Given the description of an element on the screen output the (x, y) to click on. 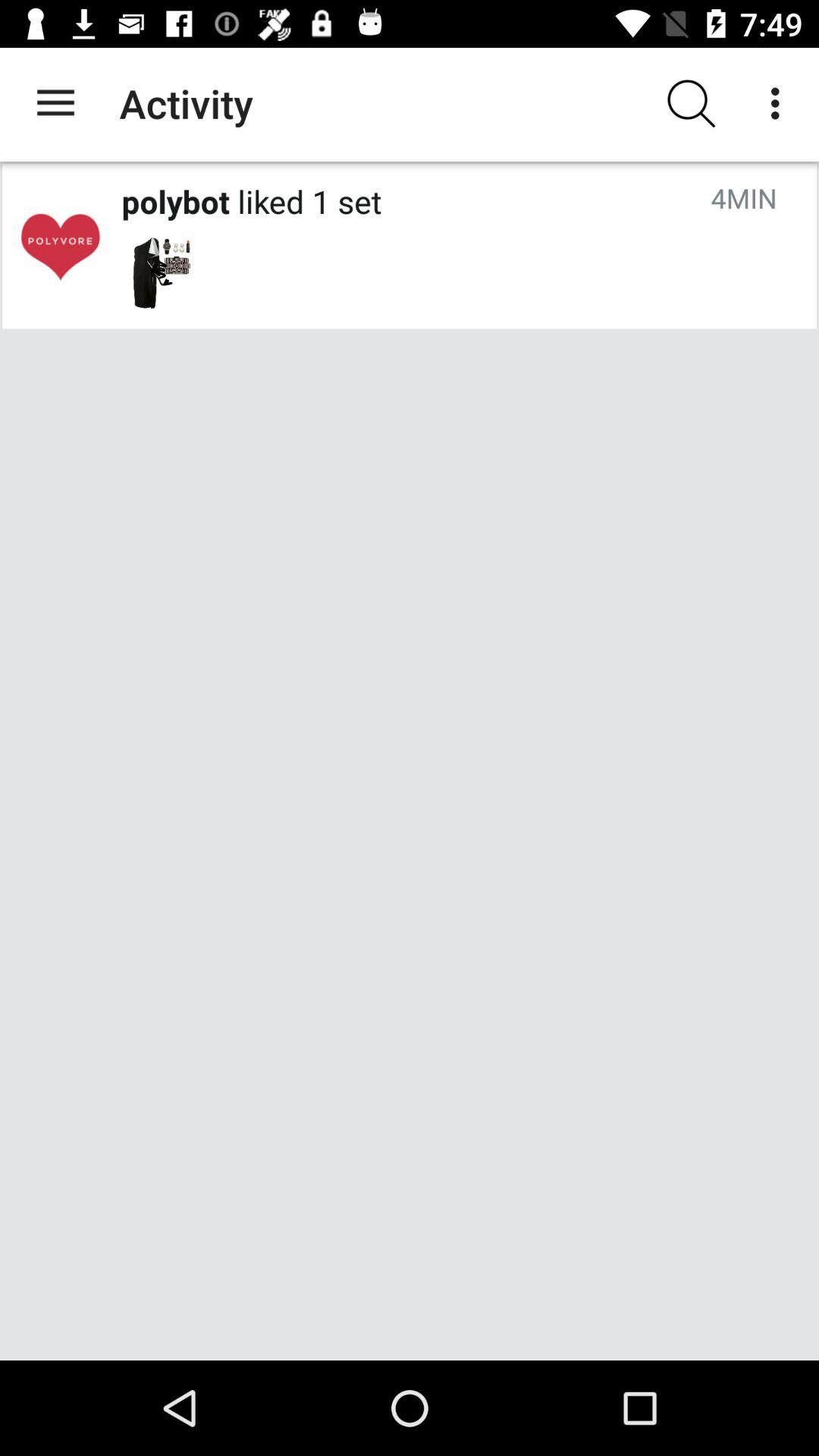
open polybot profile (59, 245)
